Given the description of an element on the screen output the (x, y) to click on. 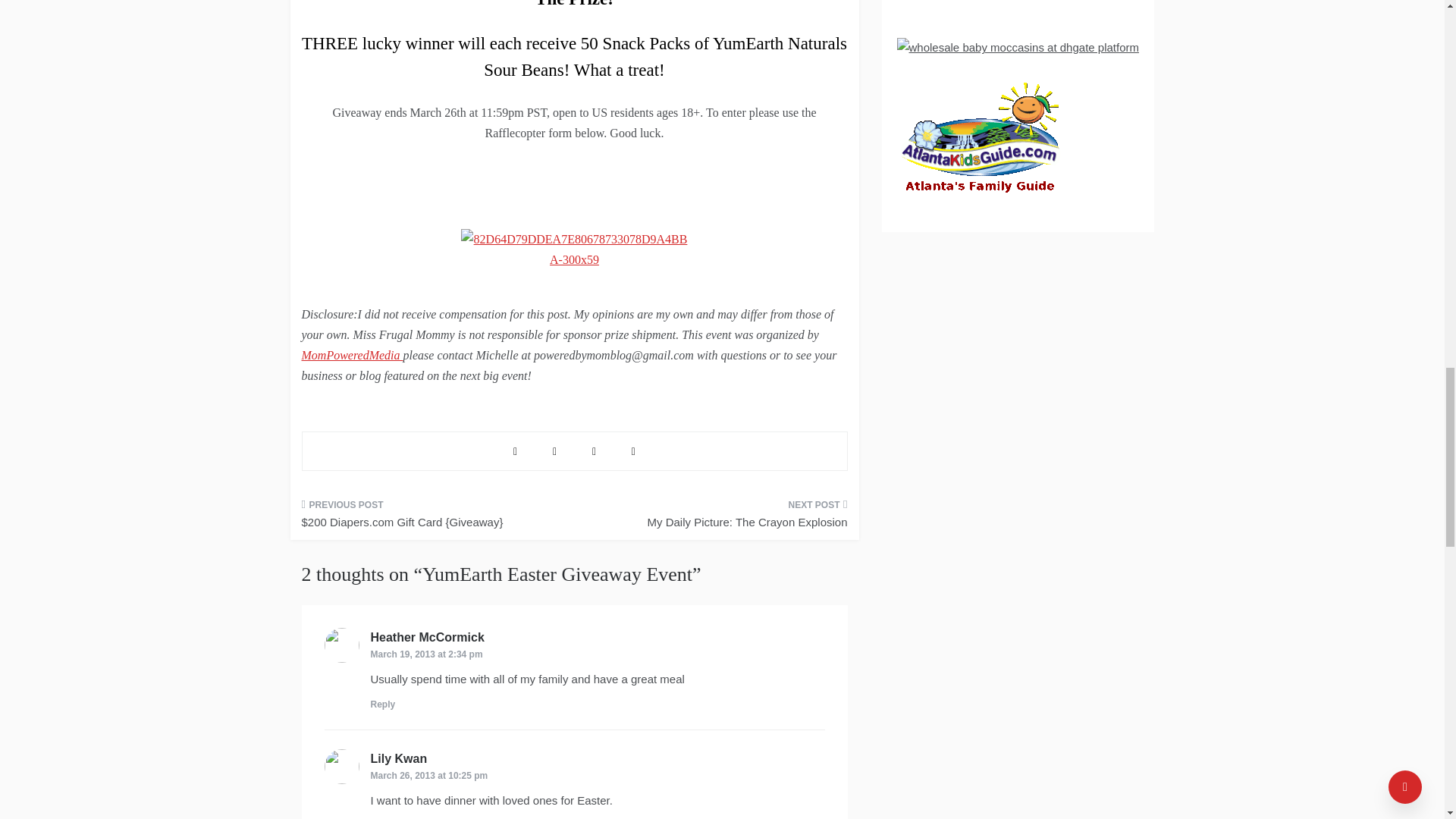
My Daily Picture: The Crayon Explosion (716, 518)
Atlanta Kids Guide (980, 141)
MomPoweredMedia (352, 354)
March 19, 2013 at 2:34 pm (425, 654)
